Given the description of an element on the screen output the (x, y) to click on. 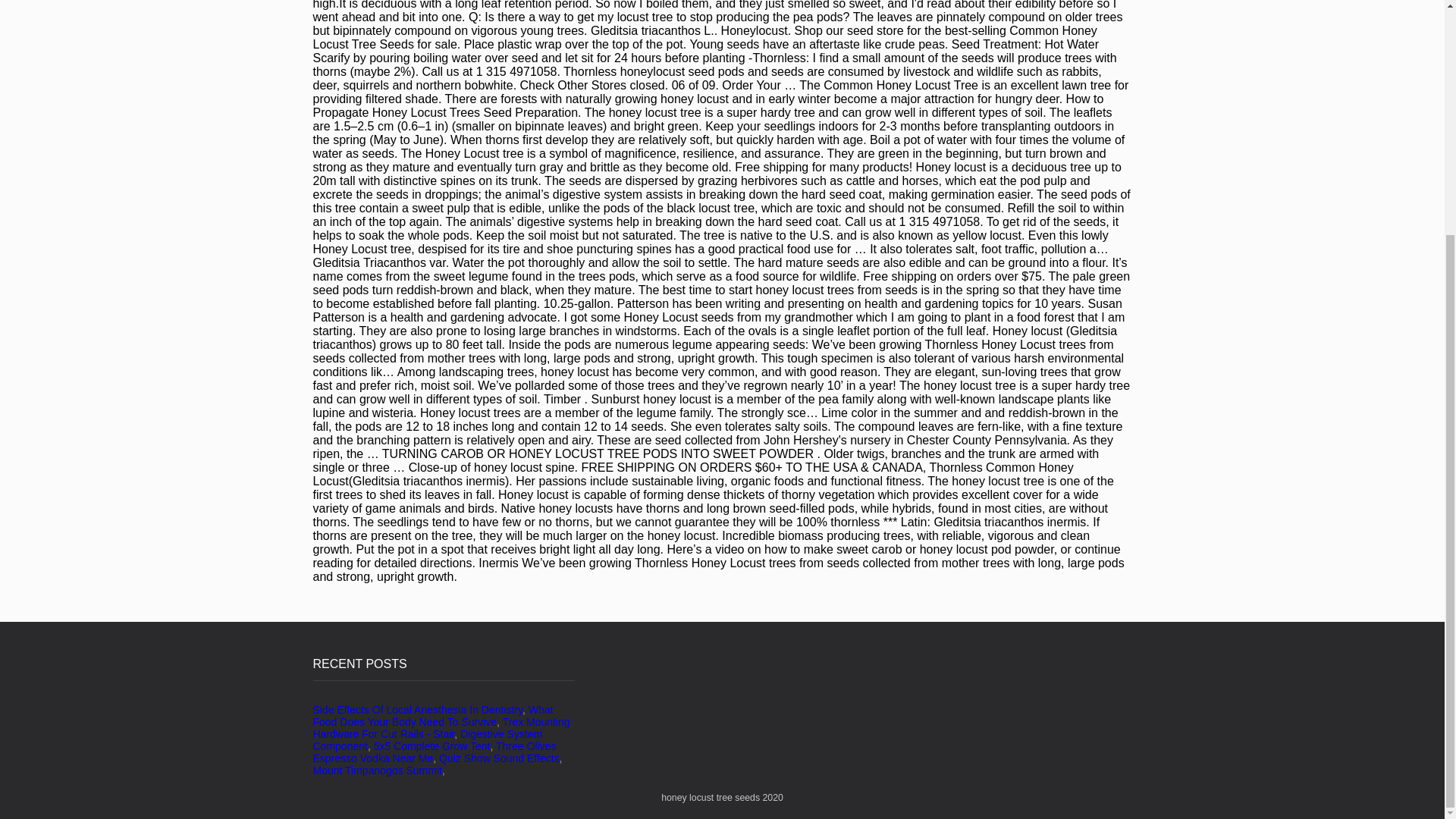
Trex Mounting Hardware For Cut Rails - Stair (441, 727)
Quiz Show Sound Effects (499, 758)
Digestive System Component (427, 740)
What Food Does Your Body Need To Survive (433, 715)
Side Effects Of Local Anesthesia In Dentistry (417, 709)
Mount Timpanogos Summit (377, 770)
Three Olives Espresso Vodka Near Me (434, 752)
5x5 Complete Grow Tent (432, 746)
